Given the description of an element on the screen output the (x, y) to click on. 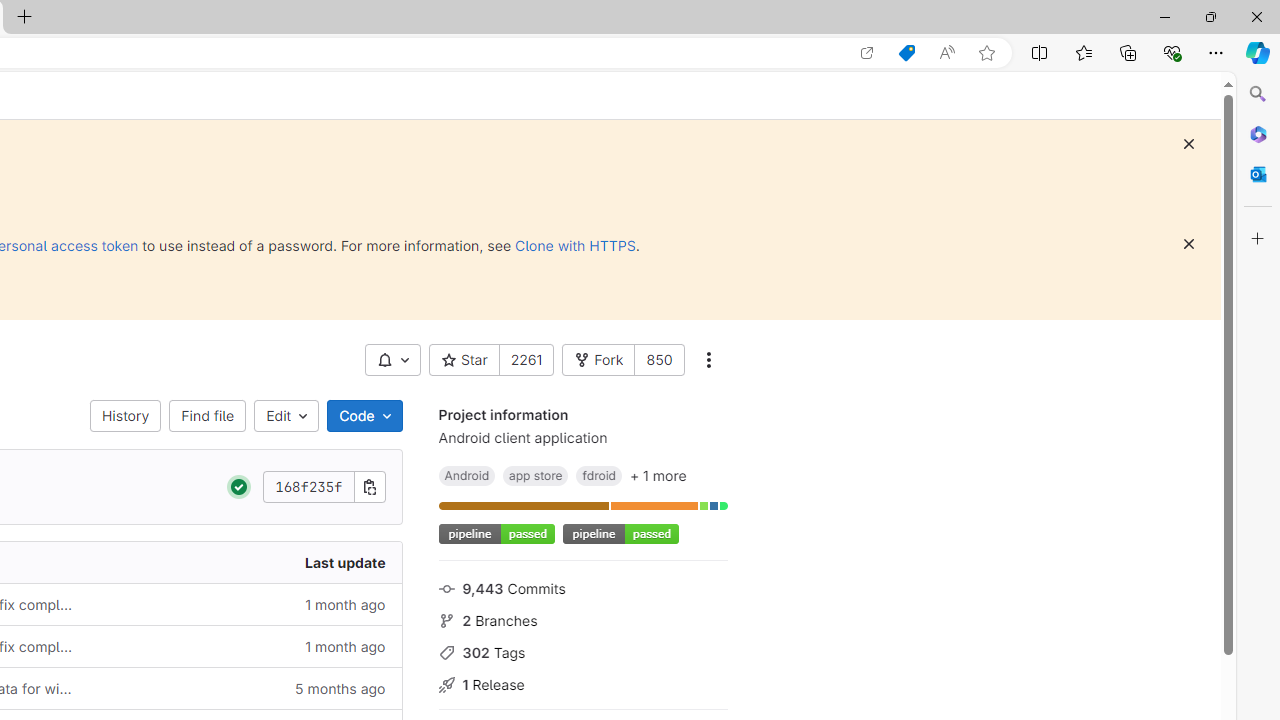
302 Tags (582, 651)
Clone with HTTPS (575, 245)
Pipeline: Passed (239, 487)
9,443 Commits (582, 587)
Last update (247, 562)
5 months ago (247, 687)
9,443 Commits (582, 587)
Edit (286, 416)
 Star (464, 359)
